Given the description of an element on the screen output the (x, y) to click on. 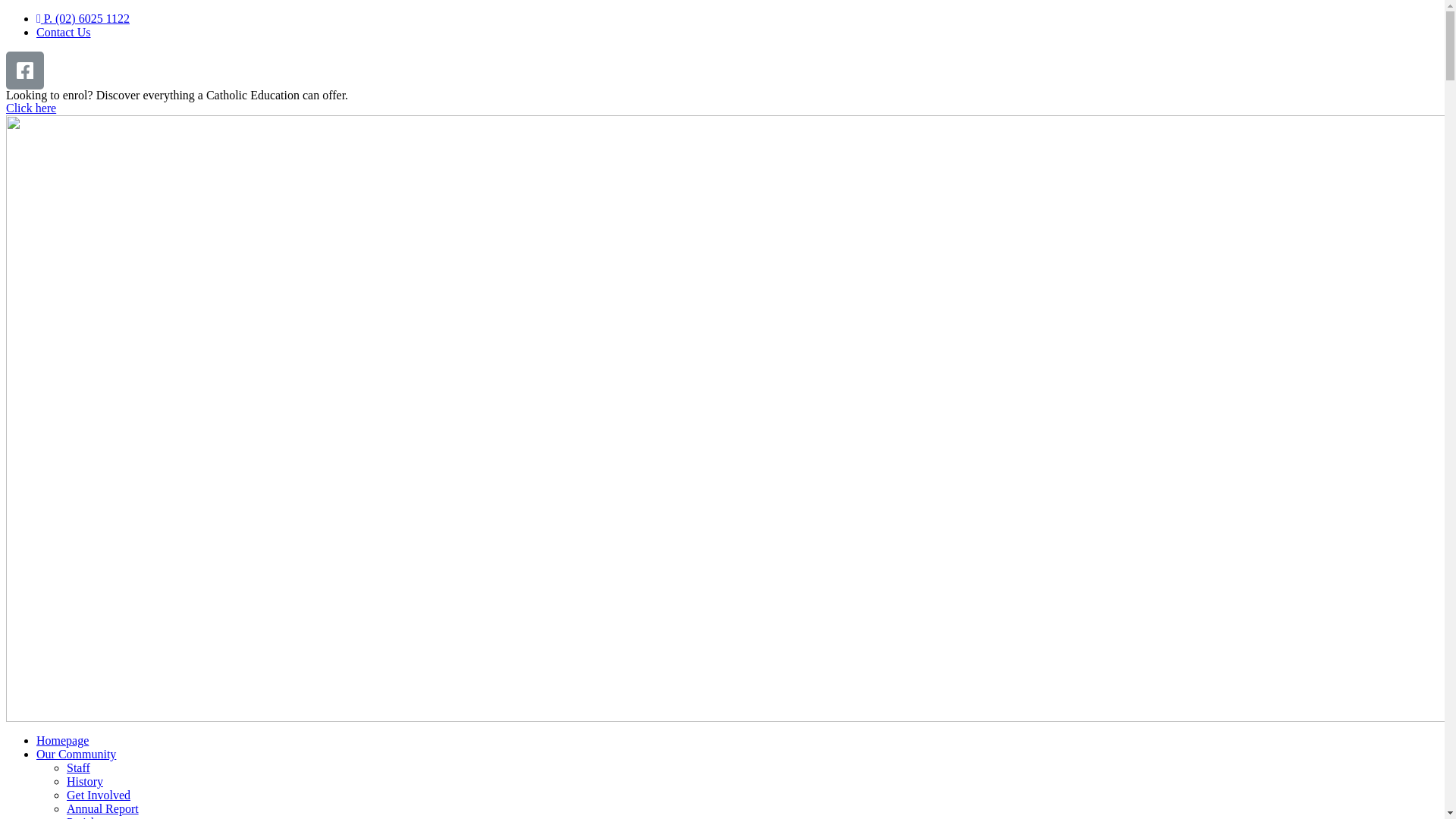
Staff Element type: text (78, 767)
Homepage Element type: text (62, 740)
Click here Element type: text (31, 107)
History Element type: text (84, 781)
Contact Us Element type: text (63, 31)
Get Involved Element type: text (98, 794)
Annual Report Element type: text (102, 808)
Our Community Element type: text (76, 753)
Skip to content Element type: text (5, 11)
P. (02) 6025 1122 Element type: text (82, 18)
